Given the description of an element on the screen output the (x, y) to click on. 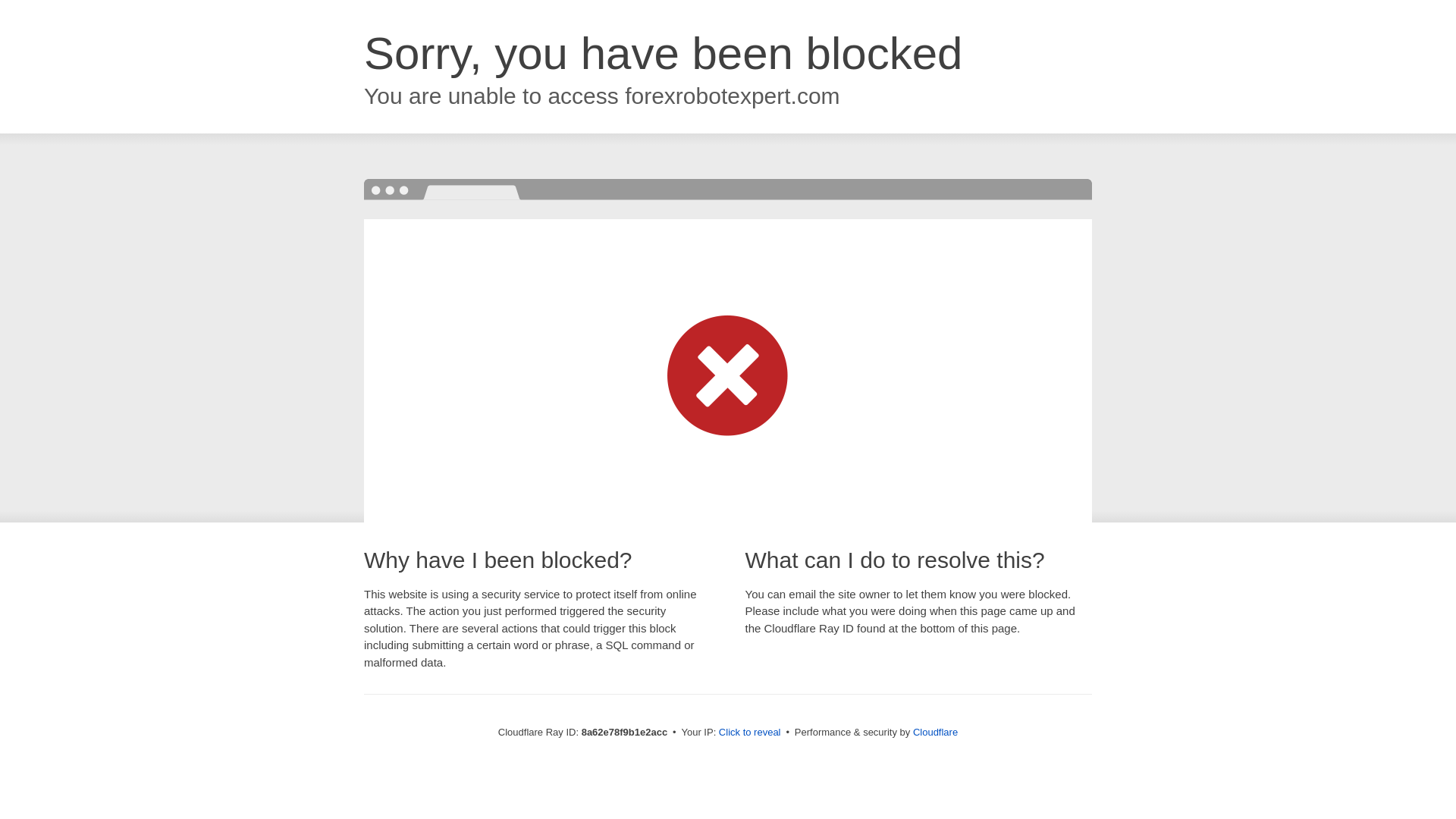
Click to reveal (749, 732)
Cloudflare (935, 731)
